Given the description of an element on the screen output the (x, y) to click on. 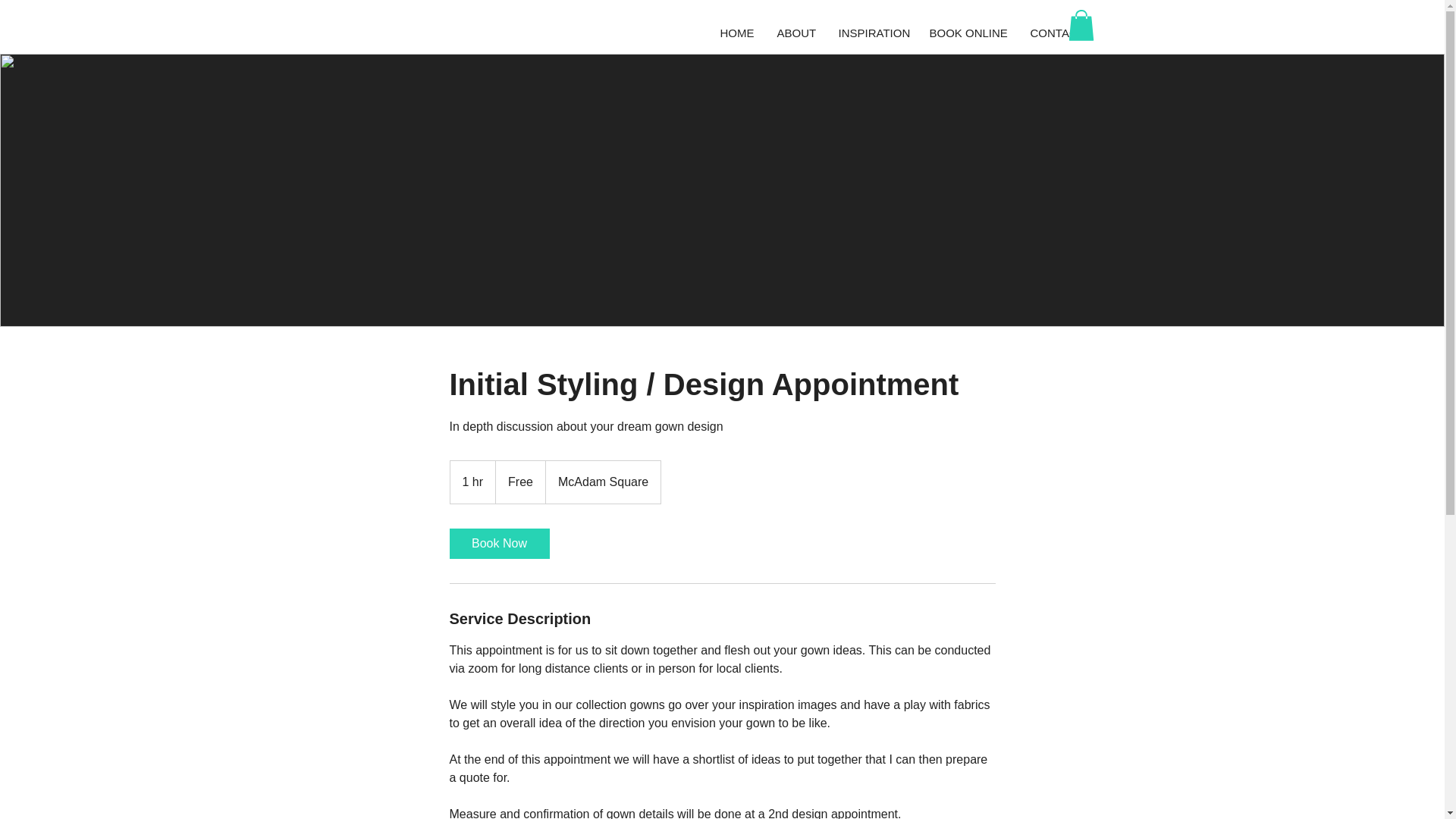
INSPIRATION (872, 32)
ABOUT (796, 32)
HOME (736, 32)
CONTACT (1056, 32)
Book Now (498, 543)
BOOK ONLINE (967, 32)
